Given the description of an element on the screen output the (x, y) to click on. 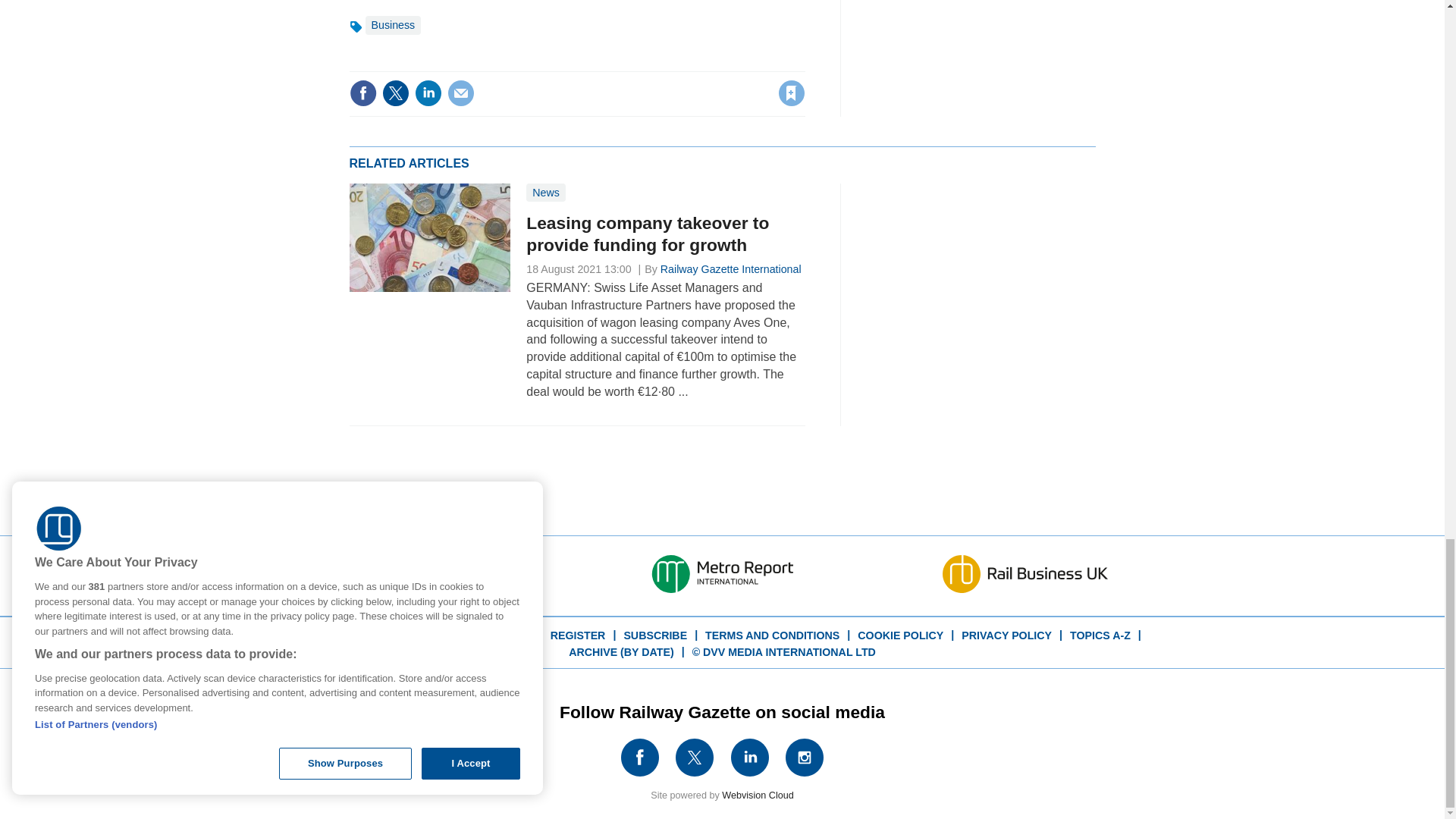
Share this on Twitter (395, 93)
Connect with Railway Gazette on Facebook (639, 757)
Follow Railway Gazette on Twitter (694, 757)
Email this article (460, 93)
Connect with us on Instagram (804, 757)
Share this on Facebook (362, 93)
Share this on Linked in (427, 93)
Connect with Railway Gazette on LinkedIn (750, 757)
